Given the description of an element on the screen output the (x, y) to click on. 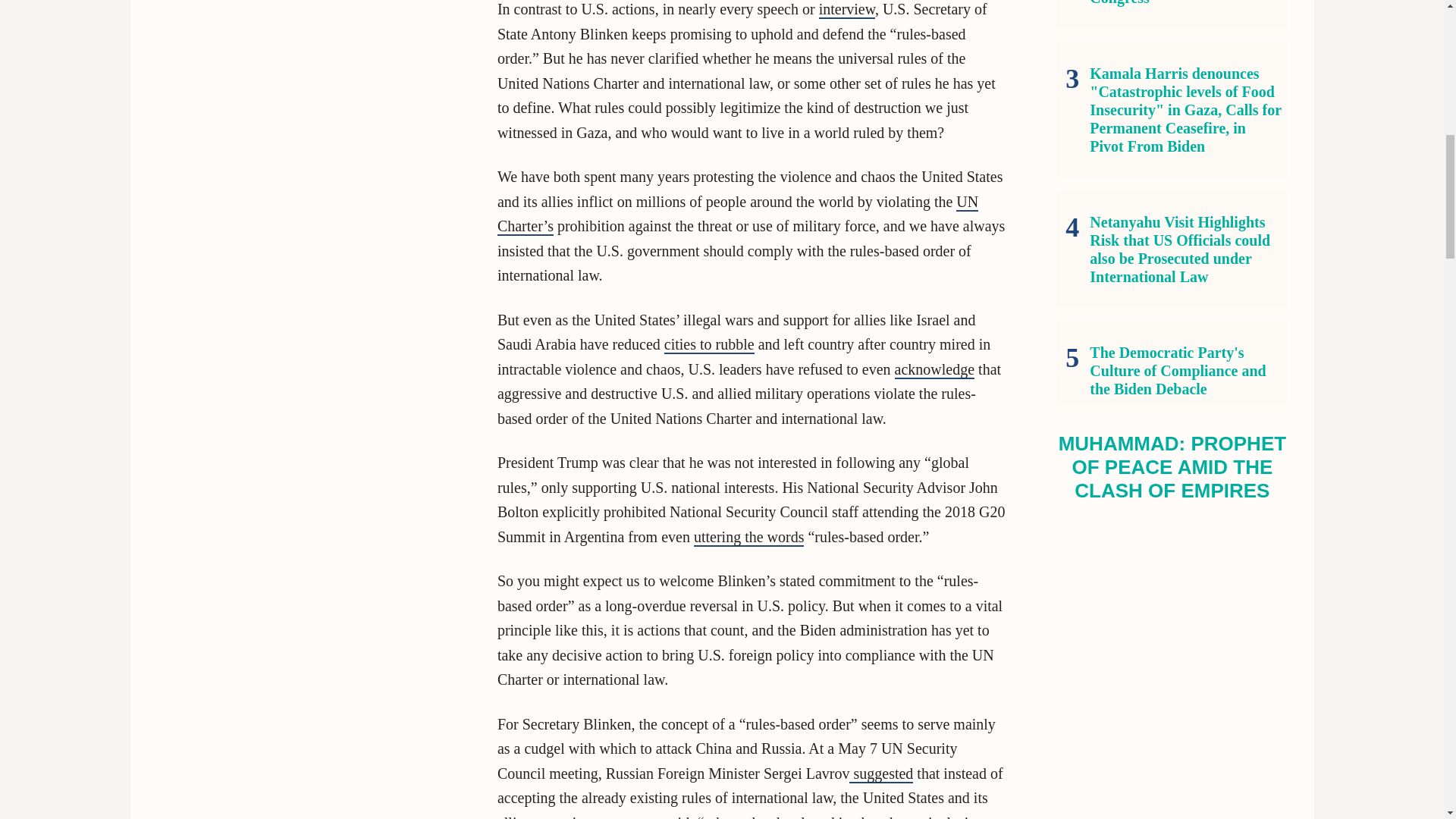
suggested (880, 773)
interview (846, 9)
uttering the words (749, 537)
cities to rubble (708, 344)
acknowledge (935, 370)
